Given the description of an element on the screen output the (x, y) to click on. 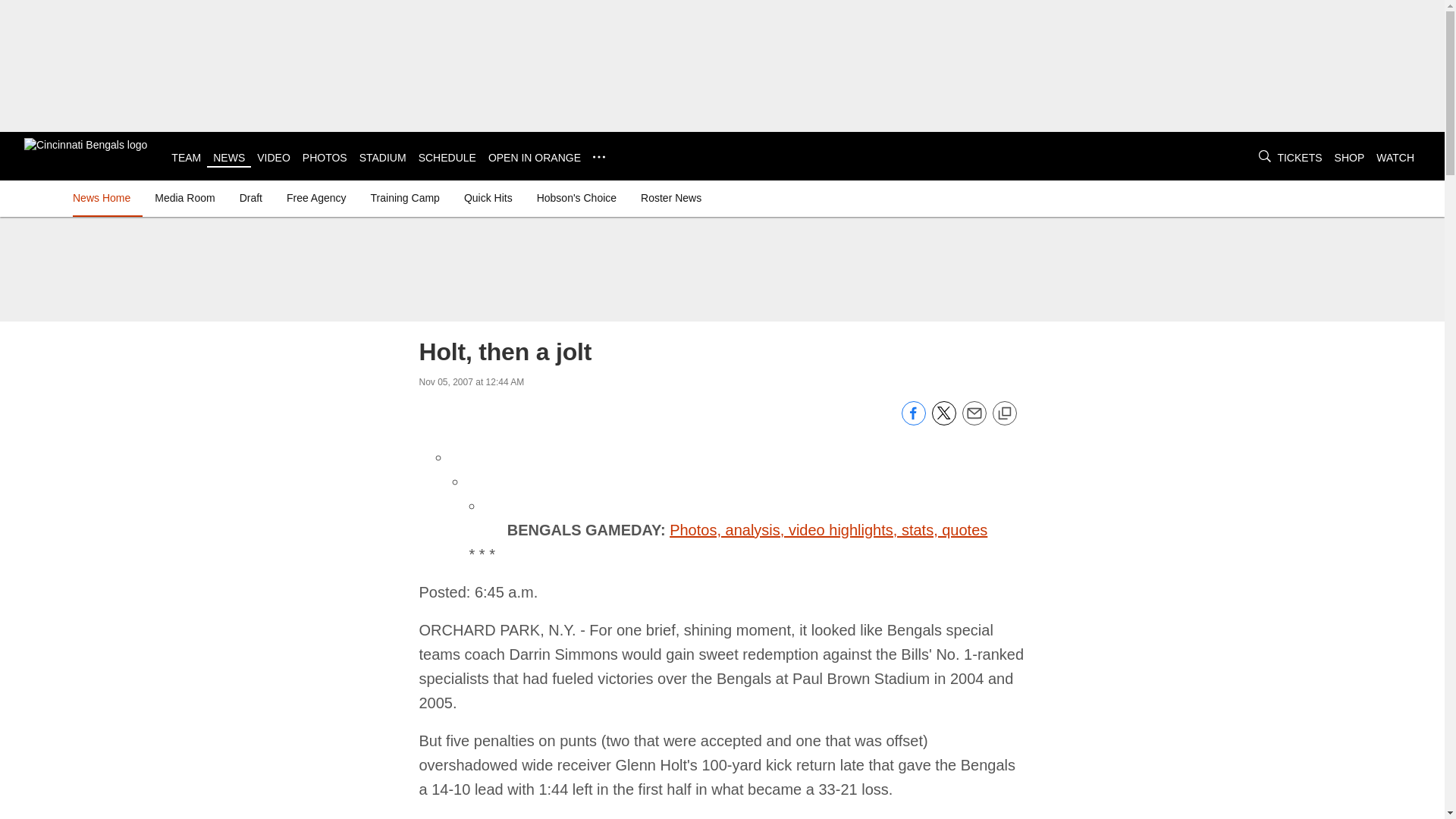
STADIUM (382, 157)
NEWS (228, 157)
NEWS (228, 157)
Free Agency (316, 197)
Draft (249, 197)
PHOTOS (324, 157)
News Home (104, 197)
VIDEO (273, 157)
Quick Hits (488, 197)
Hobson's Choice (577, 197)
